Given the description of an element on the screen output the (x, y) to click on. 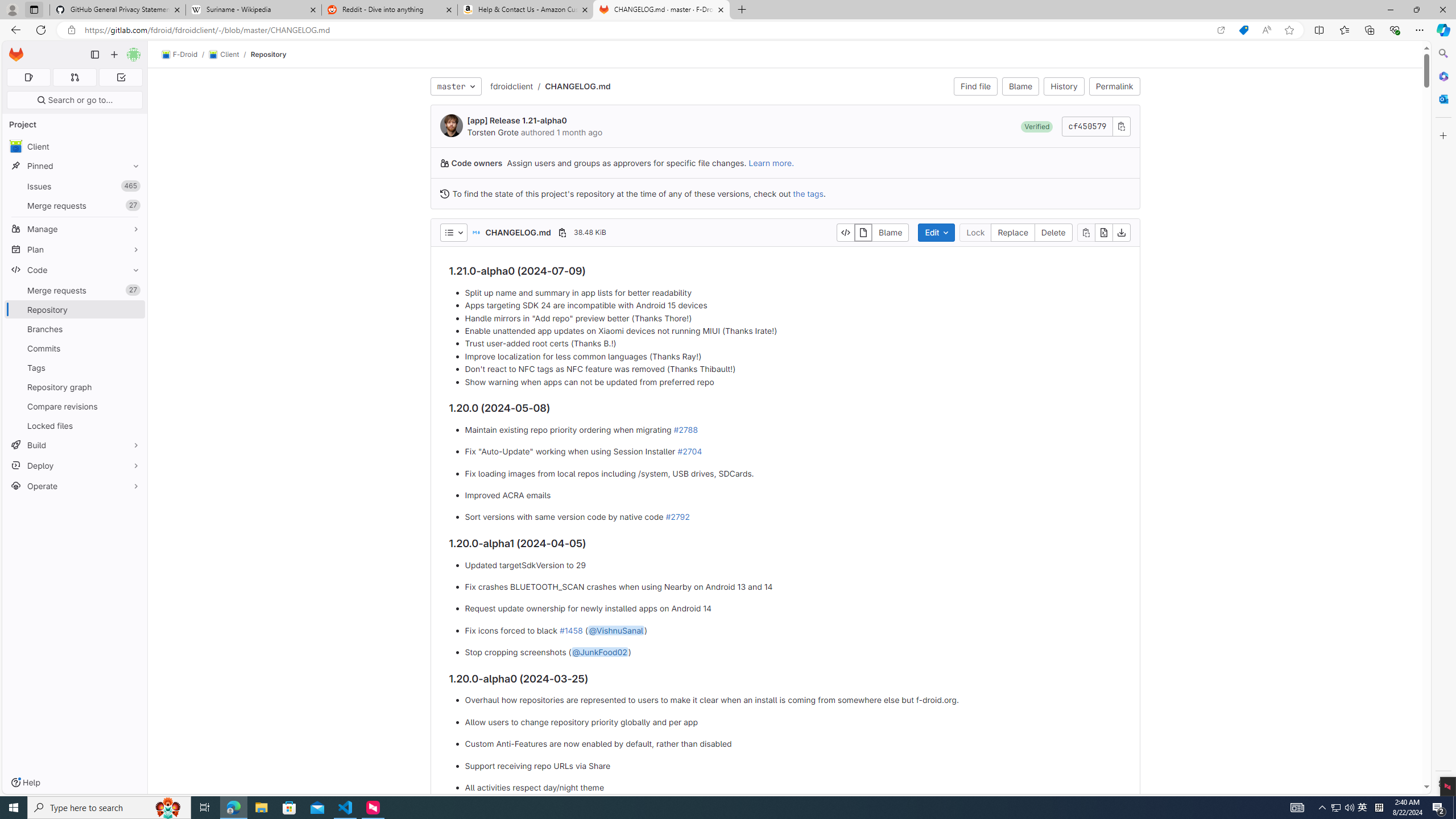
@VishnuSanal (616, 629)
Repository (268, 53)
Skip to main content (13, 49)
Deploy (74, 465)
master (455, 85)
#2788 (684, 429)
Manage (74, 228)
Branches (74, 328)
Homepage (16, 54)
CHANGELOG.md (577, 85)
Deploy (74, 465)
Plan (74, 248)
Build (74, 444)
